Given the description of an element on the screen output the (x, y) to click on. 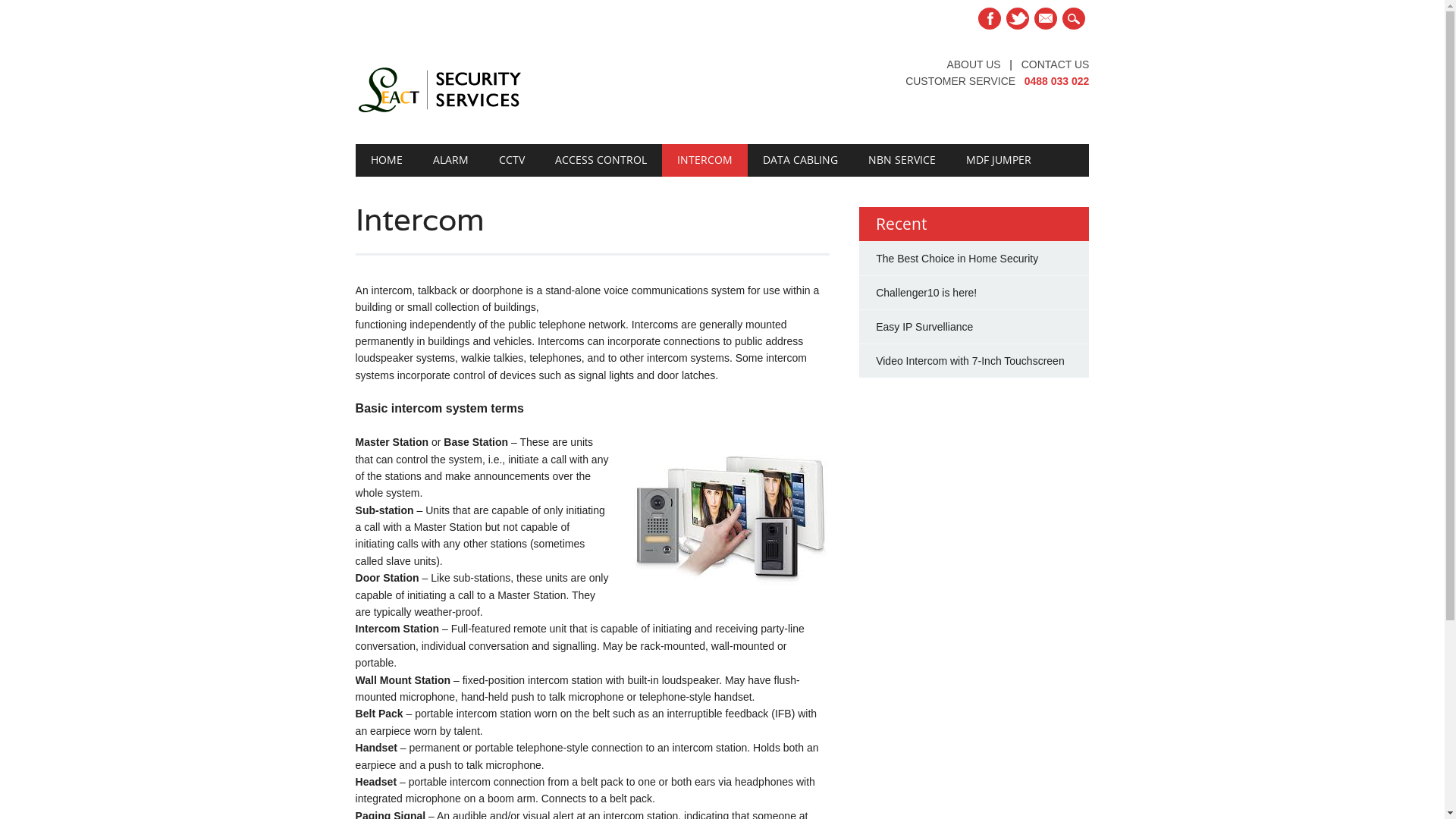
DATA CABLING Element type: text (800, 159)
ACCESS CONTROL Element type: text (600, 159)
0488 033 022 Element type: text (1056, 81)
Easy IP Survelliance Element type: text (923, 326)
CCTV Element type: text (511, 159)
MDF JUMPER Element type: text (998, 159)
The Best Choice in Home Security Element type: text (956, 258)
NBN SERVICE Element type: text (901, 159)
Challenger10 is here! Element type: text (925, 292)
Leact Security Services Element type: hover (438, 112)
ALARM Element type: text (450, 159)
Video Intercom with 7-Inch Touchscreen Element type: text (969, 360)
ABOUT US Element type: text (973, 64)
Twitter Element type: text (1017, 18)
CONTACT US Element type: text (1055, 64)
Facebook Element type: text (989, 18)
E-mail Element type: text (1045, 18)
CUSTOMER SERVICE Element type: text (960, 81)
INTERCOM Element type: text (704, 159)
HOME Element type: text (386, 159)
